Given the description of an element on the screen output the (x, y) to click on. 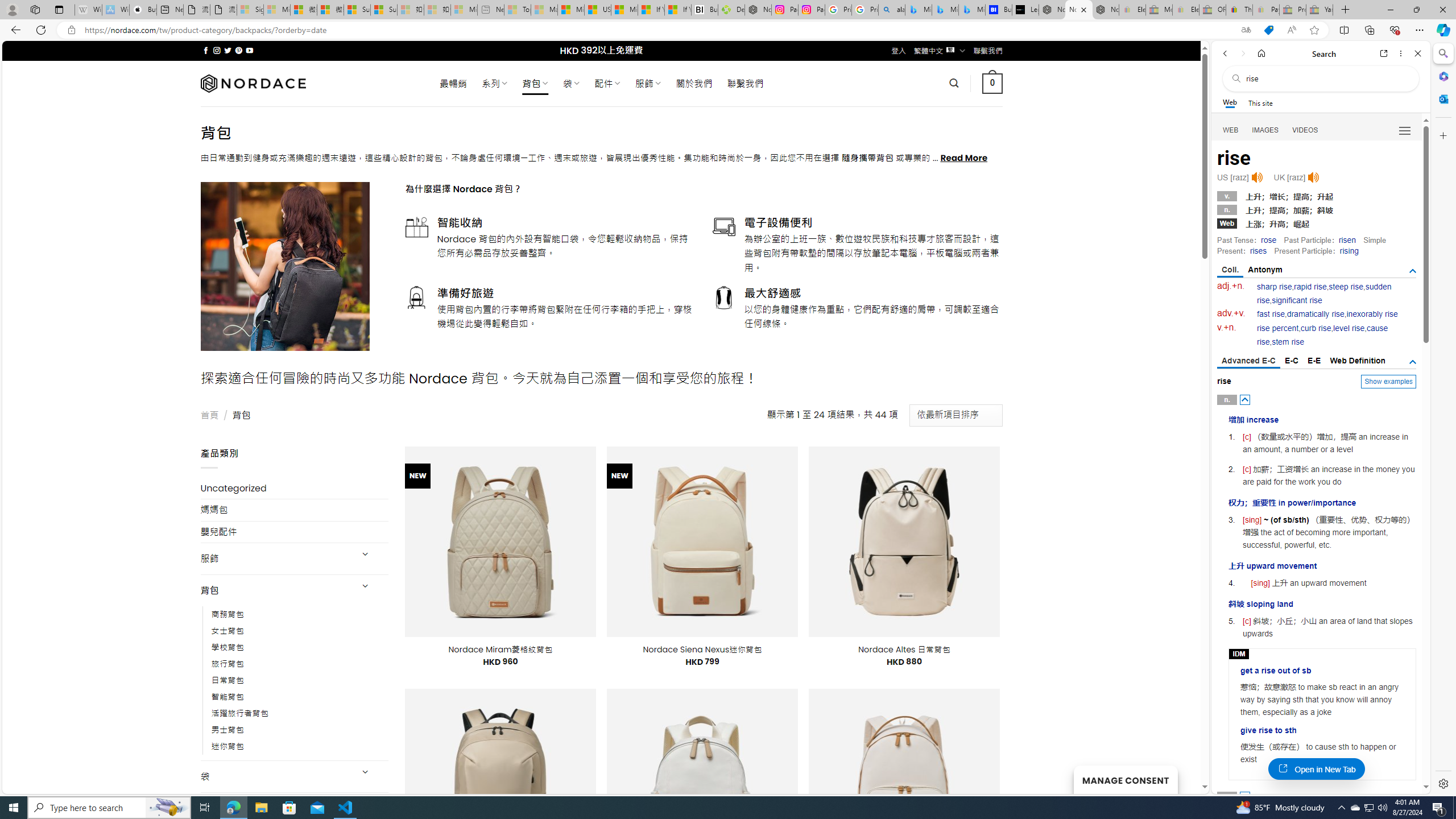
IMAGES (1265, 130)
Microsoft account | Account Checkup - Sleeping (463, 9)
Search the web (1326, 78)
WEB (1231, 130)
VIDEOS (1304, 130)
Microsoft Services Agreement - Sleeping (277, 9)
Uncategorized (294, 488)
Side bar (1443, 418)
